Given the description of an element on the screen output the (x, y) to click on. 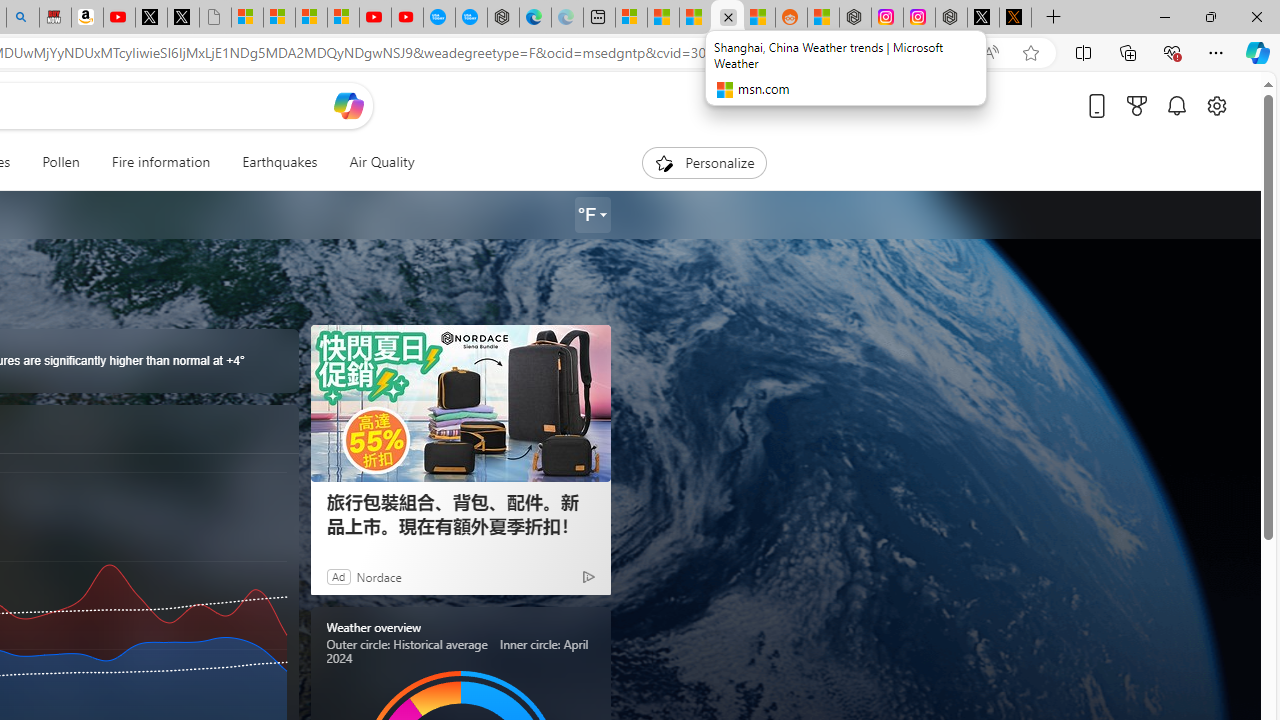
Nordace (@NordaceOfficial) / X (983, 17)
Air Quality (373, 162)
Shanghai, China Weather trends | Microsoft Weather (758, 17)
Untitled (215, 17)
Earthquakes (279, 162)
Fire information (160, 162)
Fire information (161, 162)
The most popular Google 'how to' searches (471, 17)
